Given the description of an element on the screen output the (x, y) to click on. 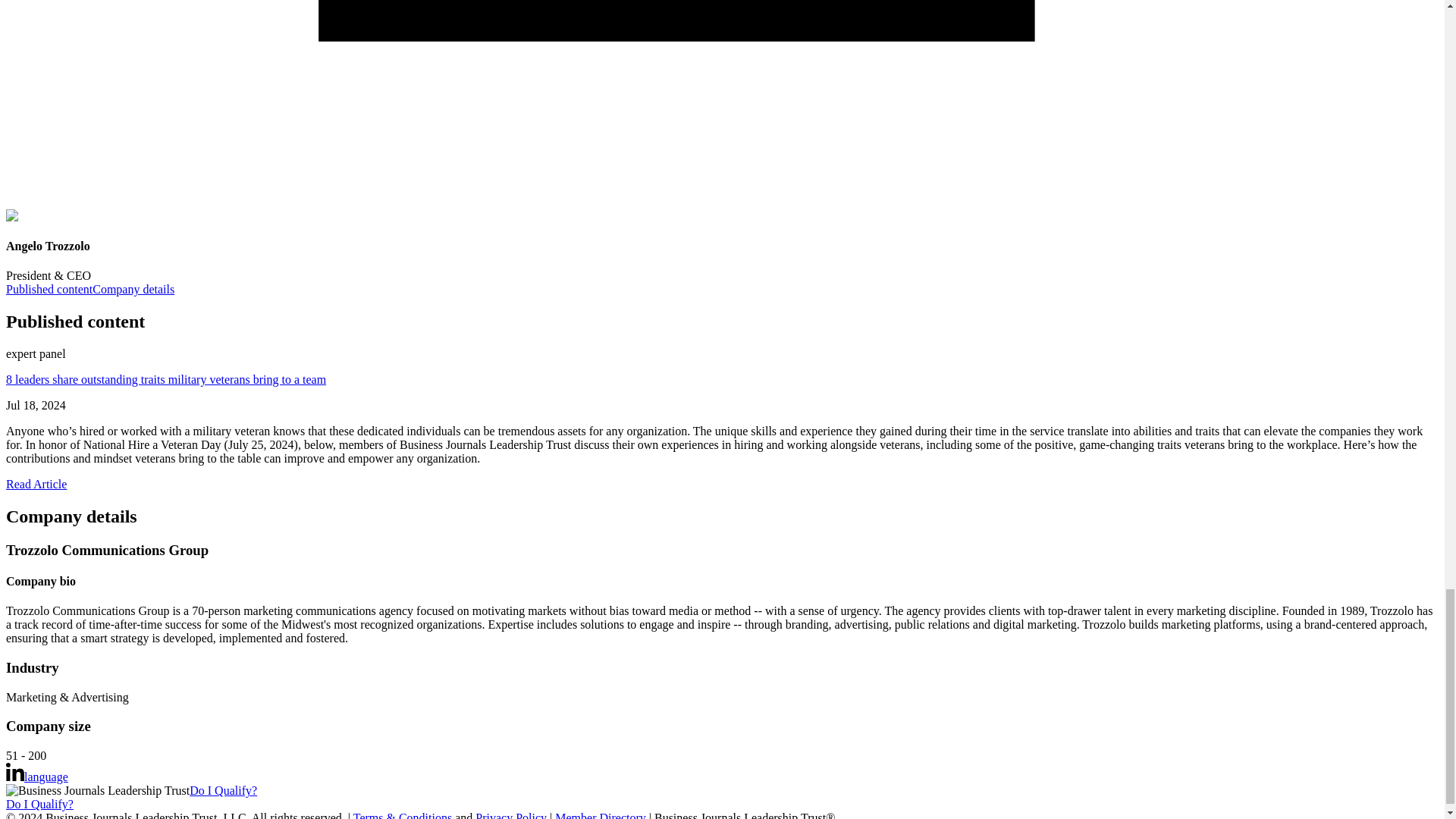
Company details (133, 288)
language (46, 776)
Do I Qualify? (39, 803)
Read Article (35, 483)
Published content (49, 288)
Do I Qualify? (223, 789)
LinkedIn (14, 776)
LinkedIn (14, 771)
